Given the description of an element on the screen output the (x, y) to click on. 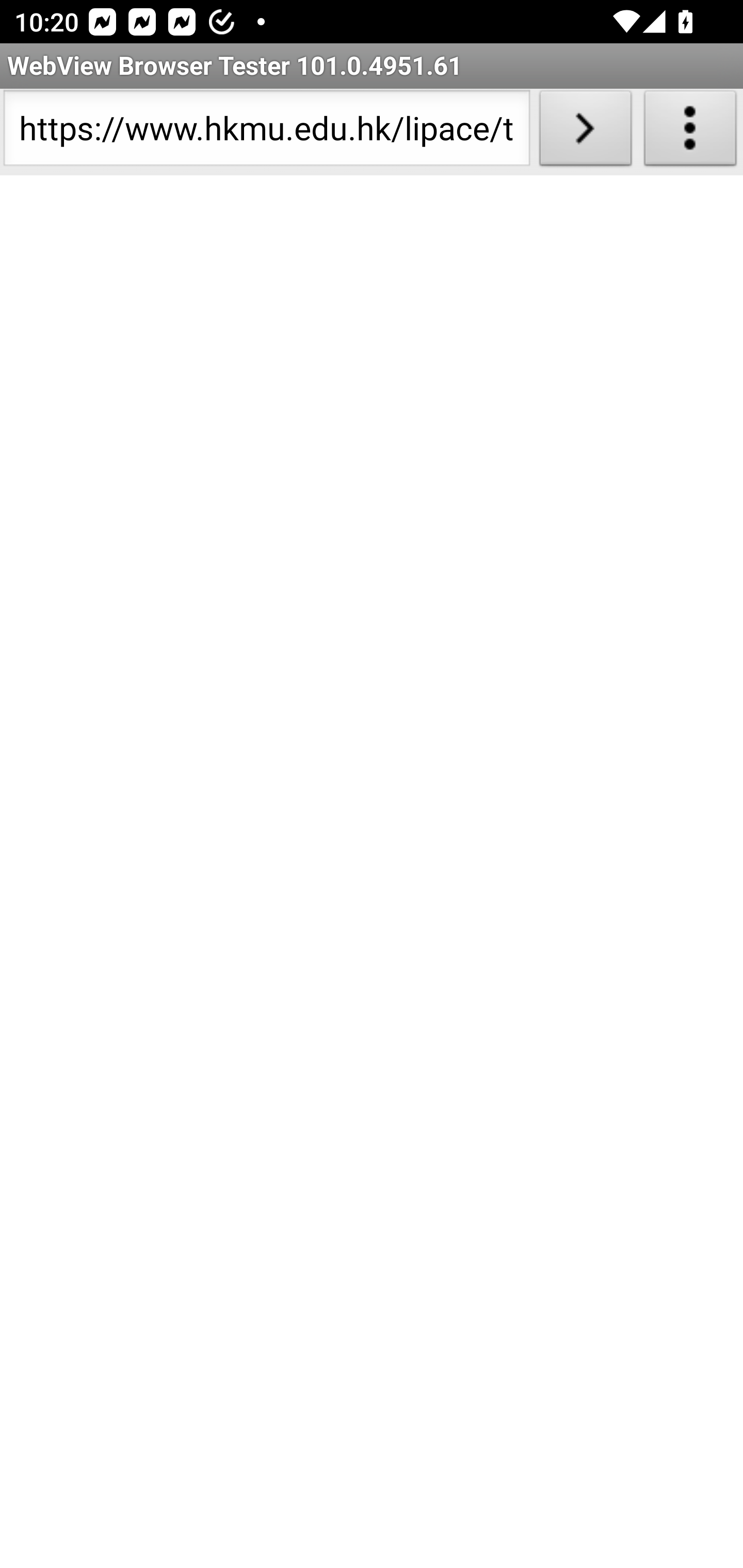
Load URL (585, 132)
About WebView (690, 132)
